Given the description of an element on the screen output the (x, y) to click on. 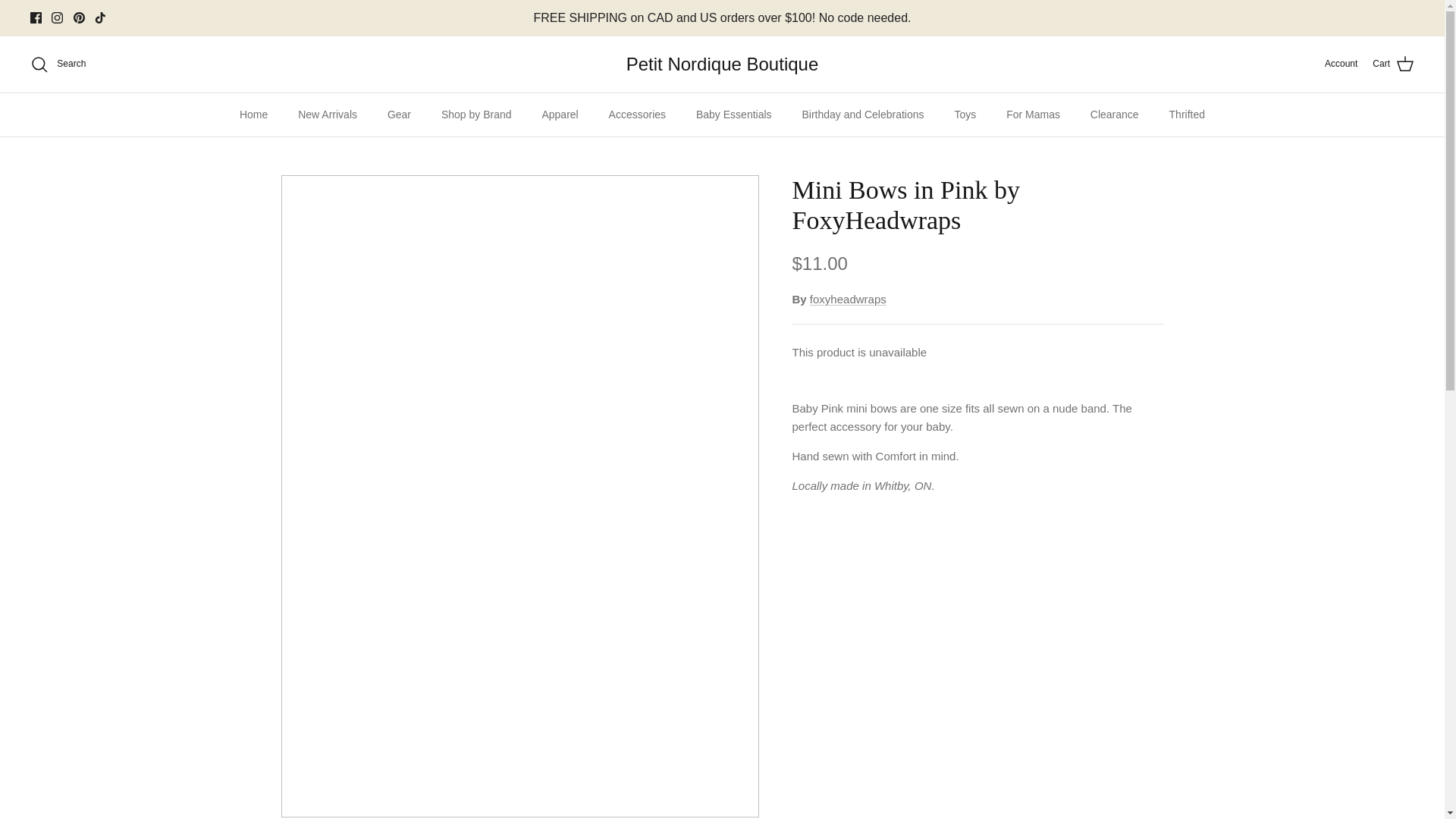
Instagram (56, 17)
Home (253, 114)
Facebook (36, 17)
Gear (399, 114)
Petit Nordique Boutique (722, 63)
Instagram (56, 17)
Pinterest (79, 17)
Pinterest (79, 17)
Facebook (36, 17)
Search (57, 64)
